Given the description of an element on the screen output the (x, y) to click on. 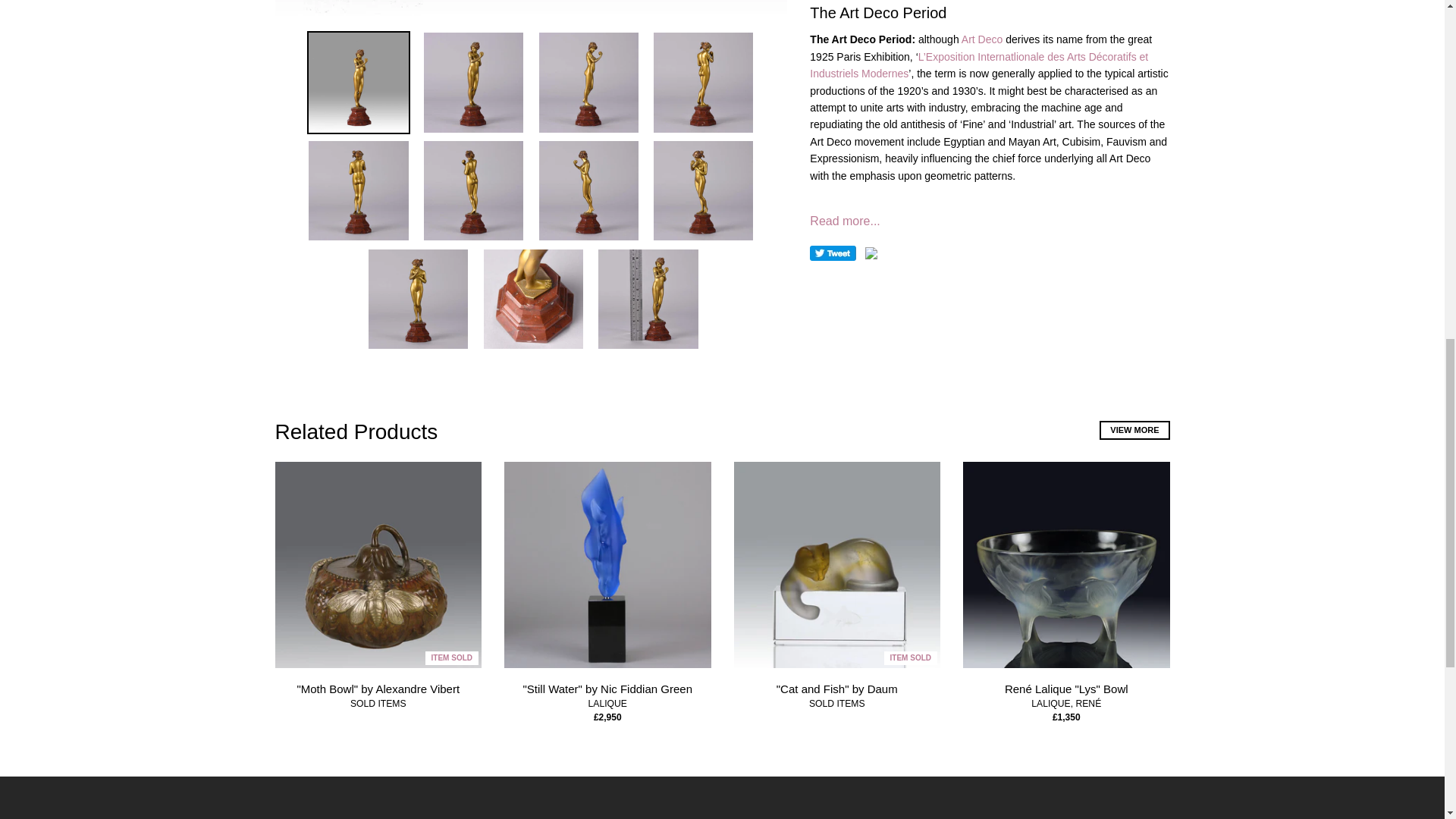
Art Deco Bronze Sculpture (981, 39)
Decorative Arts (978, 64)
